Given the description of an element on the screen output the (x, y) to click on. 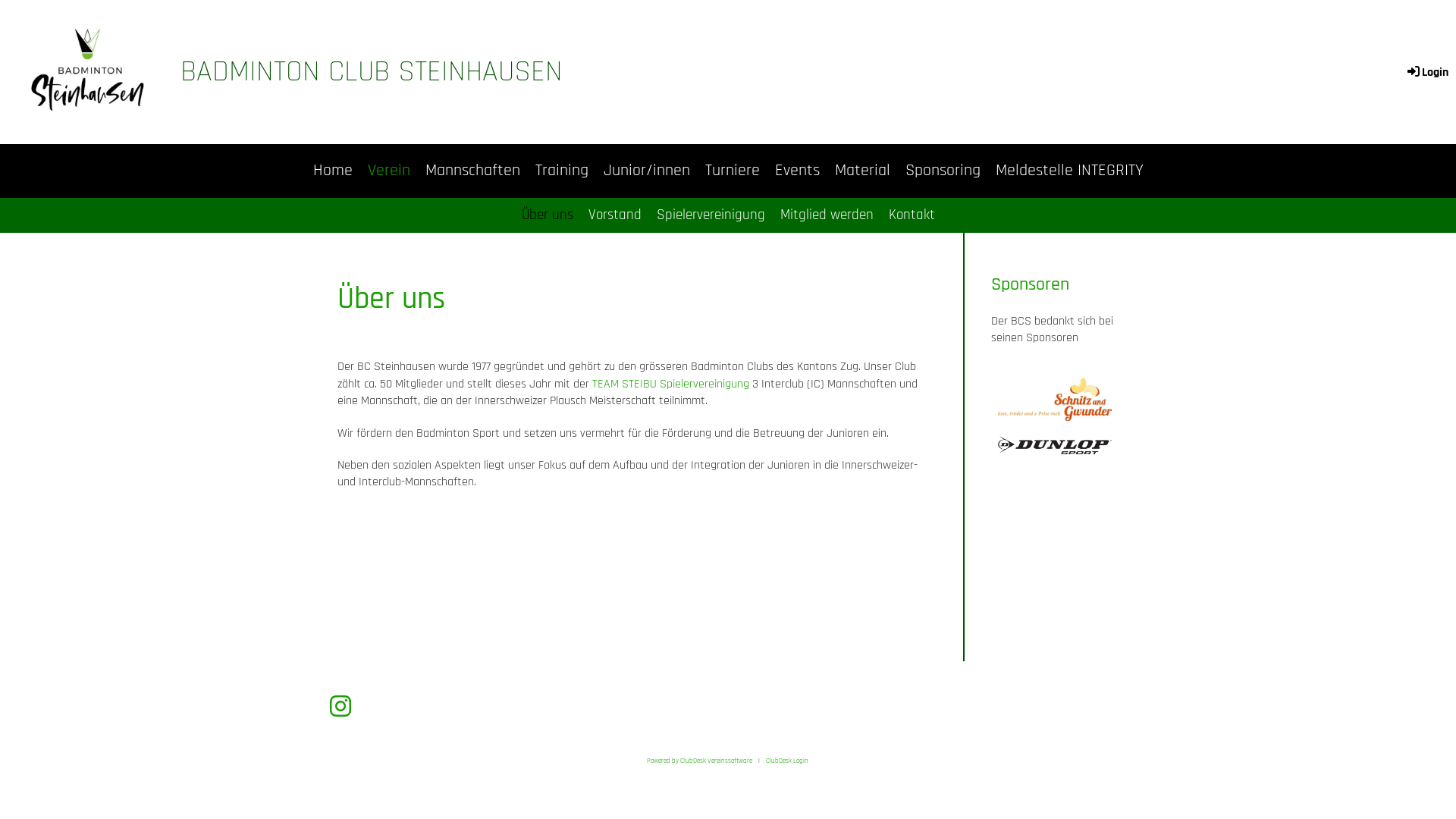
Junior/innen Element type: text (646, 170)
ClubDesk Login Element type: text (786, 760)
Vorstand Element type: text (614, 215)
Mannschaften Element type: text (472, 170)
TEAM STEIBU Spielervereinigung Element type: text (670, 384)
Training Element type: text (561, 170)
Mitglied werden Element type: text (825, 215)
BADMINTON CLUB STEINHAUSEN Element type: text (371, 72)
Verein Element type: text (388, 170)
Material Element type: text (861, 170)
Login Element type: text (1426, 72)
Home Element type: text (331, 170)
Spielervereinigung Element type: text (710, 215)
Sponsoring Element type: text (942, 170)
Turniere Element type: text (732, 170)
Powered by ClubDesk Vereinssoftware Element type: text (699, 760)
Events Element type: text (797, 170)
Kontakt Element type: text (911, 215)
Meldestelle INTEGRITY Element type: text (1068, 170)
